Given the description of an element on the screen output the (x, y) to click on. 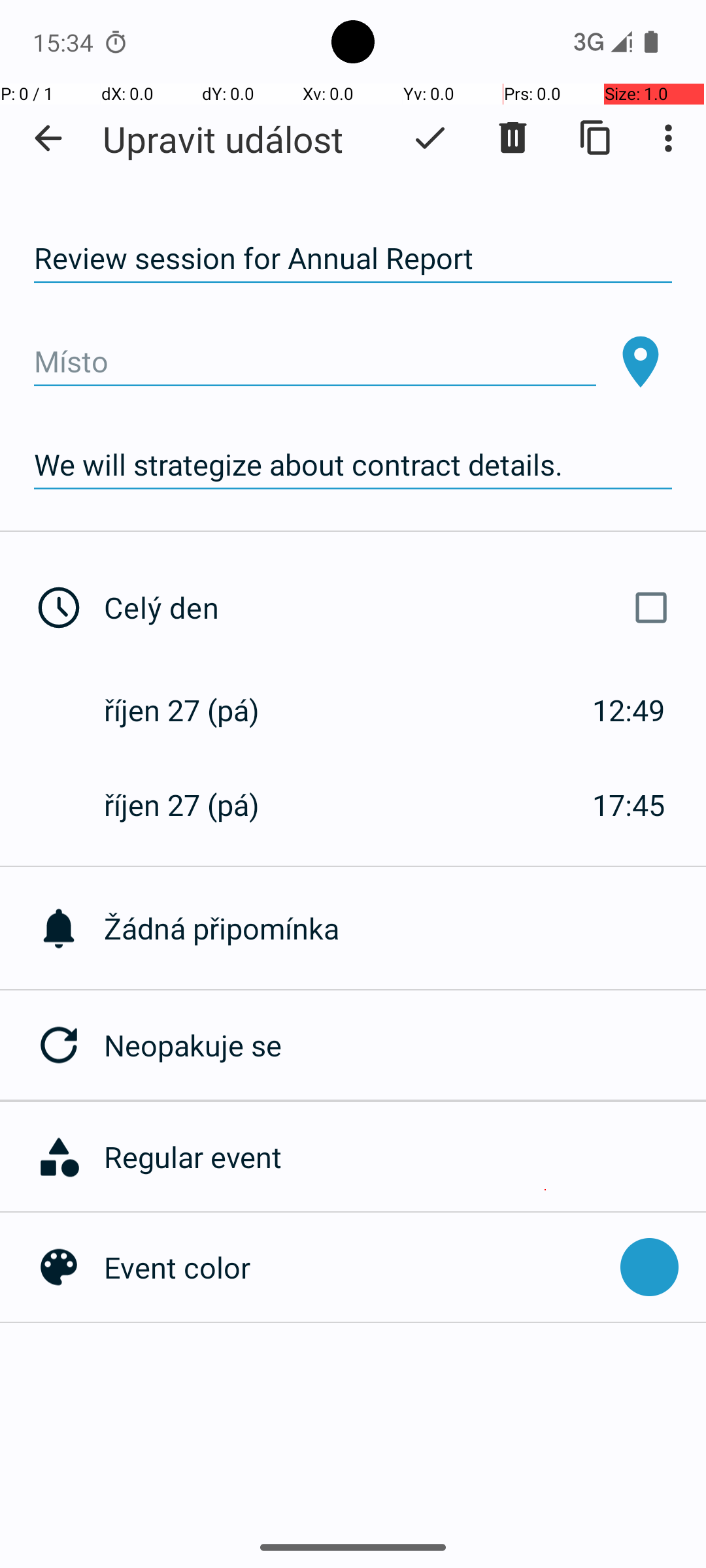
Upravit událost Element type: android.widget.TextView (222, 138)
Uložit Element type: android.widget.Button (429, 137)
Smazat Element type: android.widget.Button (512, 137)
Zkopírovat událost Element type: android.widget.Button (595, 137)
Místo Element type: android.widget.EditText (314, 361)
We will strategize about contract details. Element type: android.widget.EditText (352, 465)
říjen 27 (pá) Element type: android.widget.TextView (194, 709)
12:49 Element type: android.widget.TextView (628, 709)
17:45 Element type: android.widget.TextView (628, 804)
Žádná připomínka Element type: android.widget.TextView (404, 927)
Neopakuje se Element type: android.widget.TextView (404, 1044)
Celý den Element type: android.widget.CheckBox (390, 607)
